Given the description of an element on the screen output the (x, y) to click on. 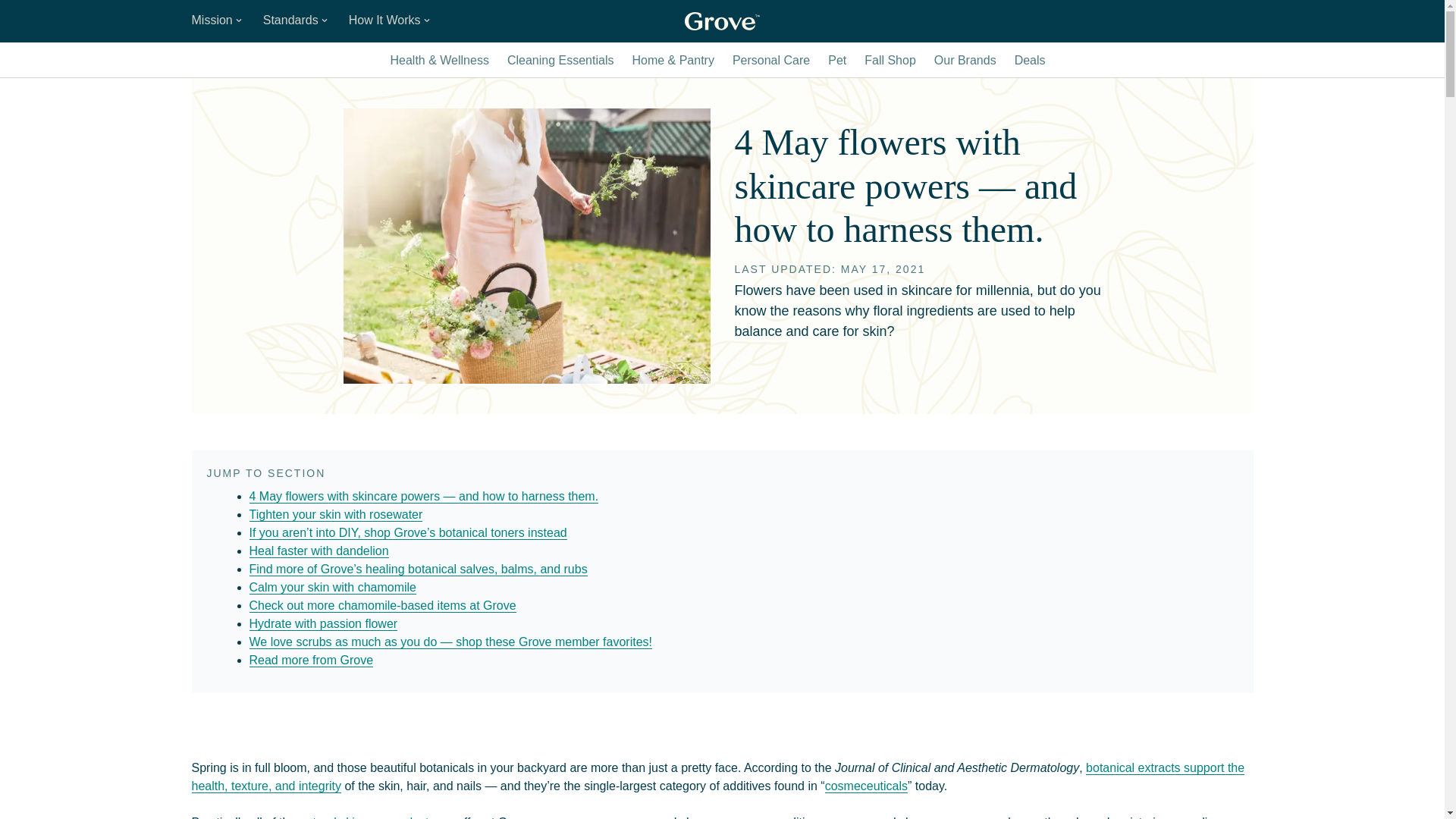
Heal faster with dandelion (318, 550)
cosmeceuticals (866, 786)
Read more from Grove (310, 660)
Personal Care (770, 60)
Check out more chamomile-based items at Grove (381, 605)
Standards (296, 20)
Our Brands (964, 60)
natural skincare products (367, 817)
Calm your skin with chamomile (332, 587)
